Given the description of an element on the screen output the (x, y) to click on. 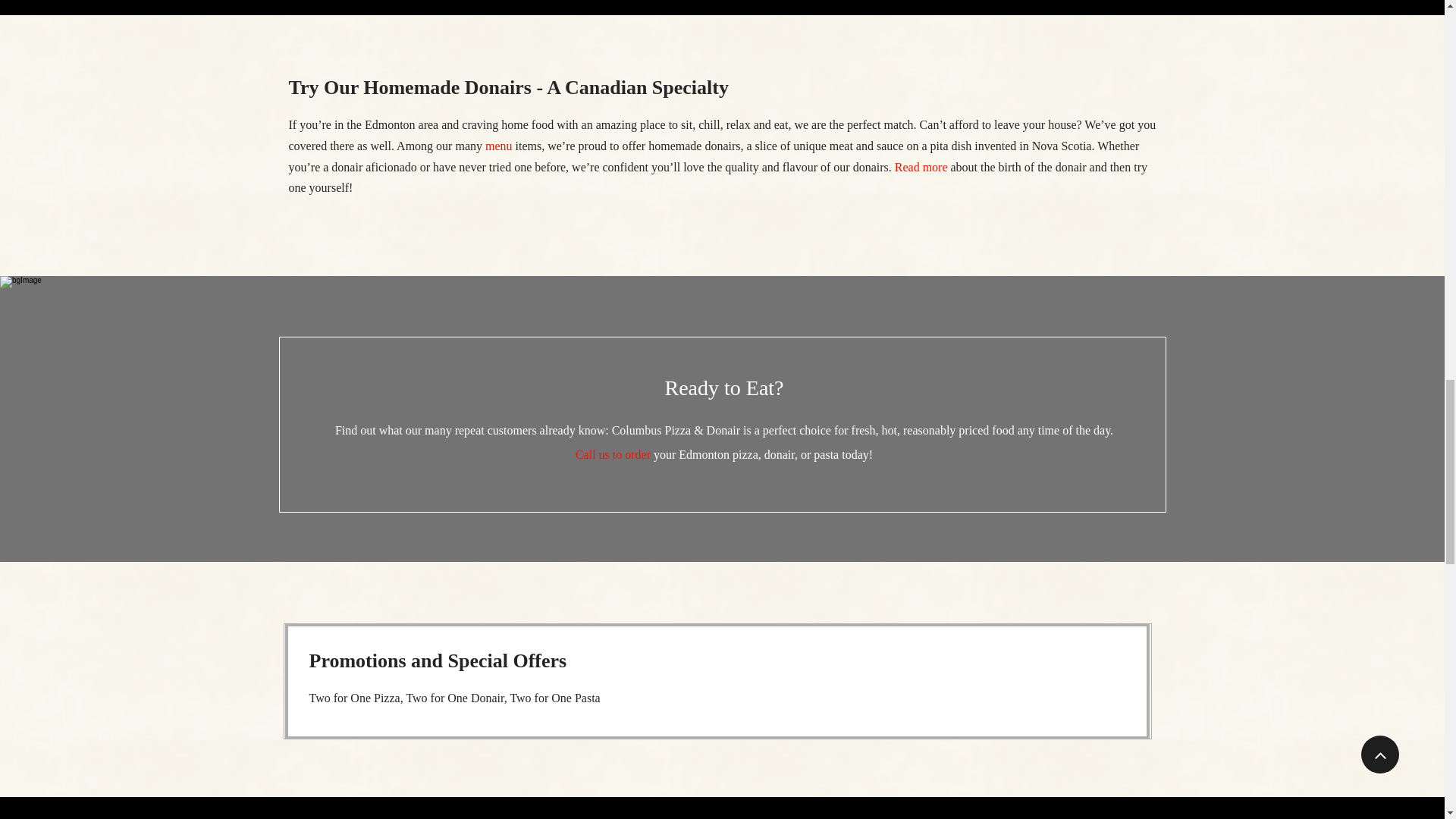
Call us to order (612, 454)
menu (498, 145)
Read more (921, 166)
